Given the description of an element on the screen output the (x, y) to click on. 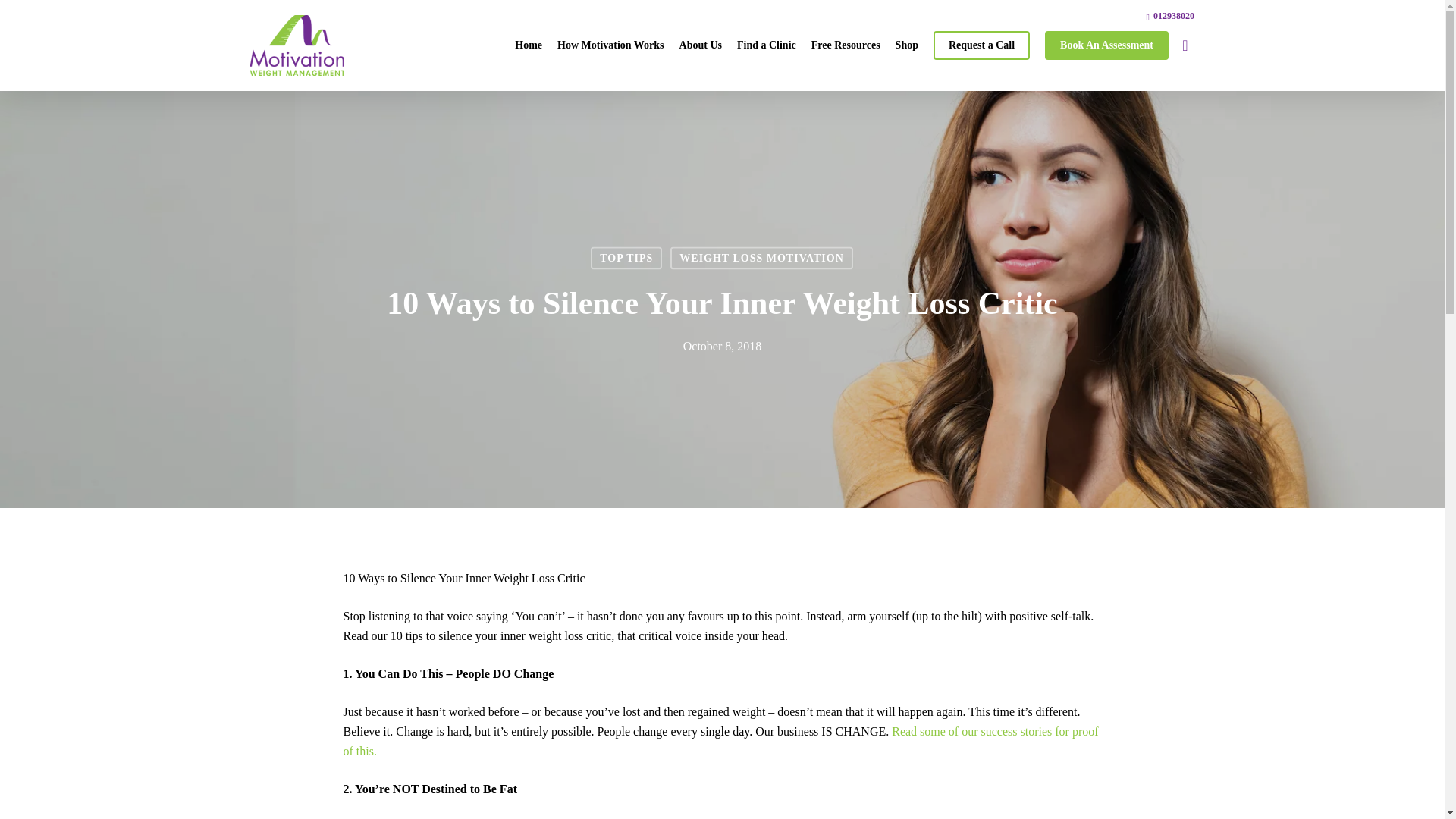
WEIGHT LOSS MOTIVATION (761, 258)
How Motivation Works (610, 45)
About Us (700, 45)
Free Resources (845, 45)
Book An Assessment (1107, 45)
Home (528, 45)
TOP TIPS (626, 258)
Read some of our success stories for proof of this. (719, 740)
search (1184, 45)
Shop (907, 45)
